Given the description of an element on the screen output the (x, y) to click on. 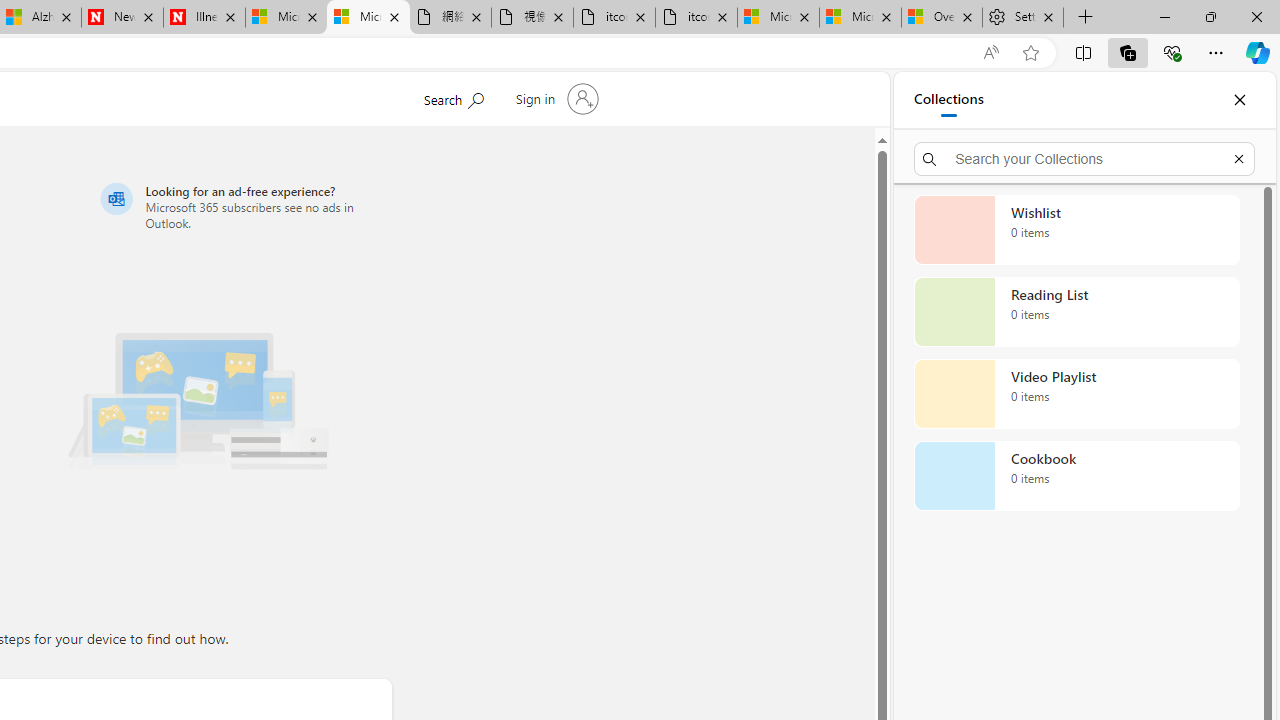
Looking for an ad-free experience? (242, 206)
Video Playlist collection, 0 items (1076, 394)
itconcepthk.com/projector_solutions.mp4 (696, 17)
Illustration of multiple devices (198, 394)
Exit search (1238, 158)
Search Microsoft.com (452, 97)
Microsoft account | Privacy (860, 17)
Illness news & latest pictures from Newsweek.com (203, 17)
